Given the description of an element on the screen output the (x, y) to click on. 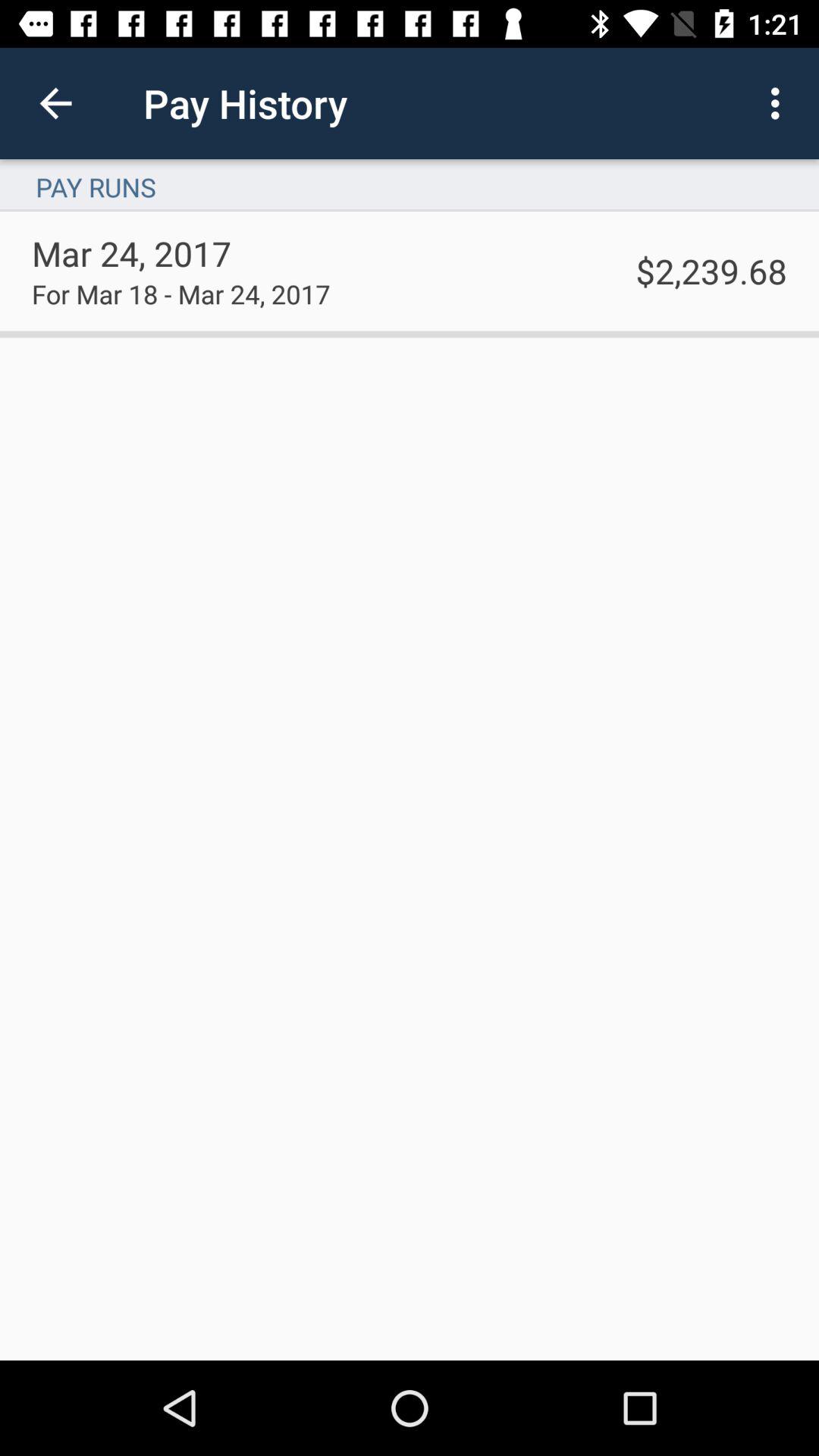
press the item to the right of pay history icon (779, 103)
